Given the description of an element on the screen output the (x, y) to click on. 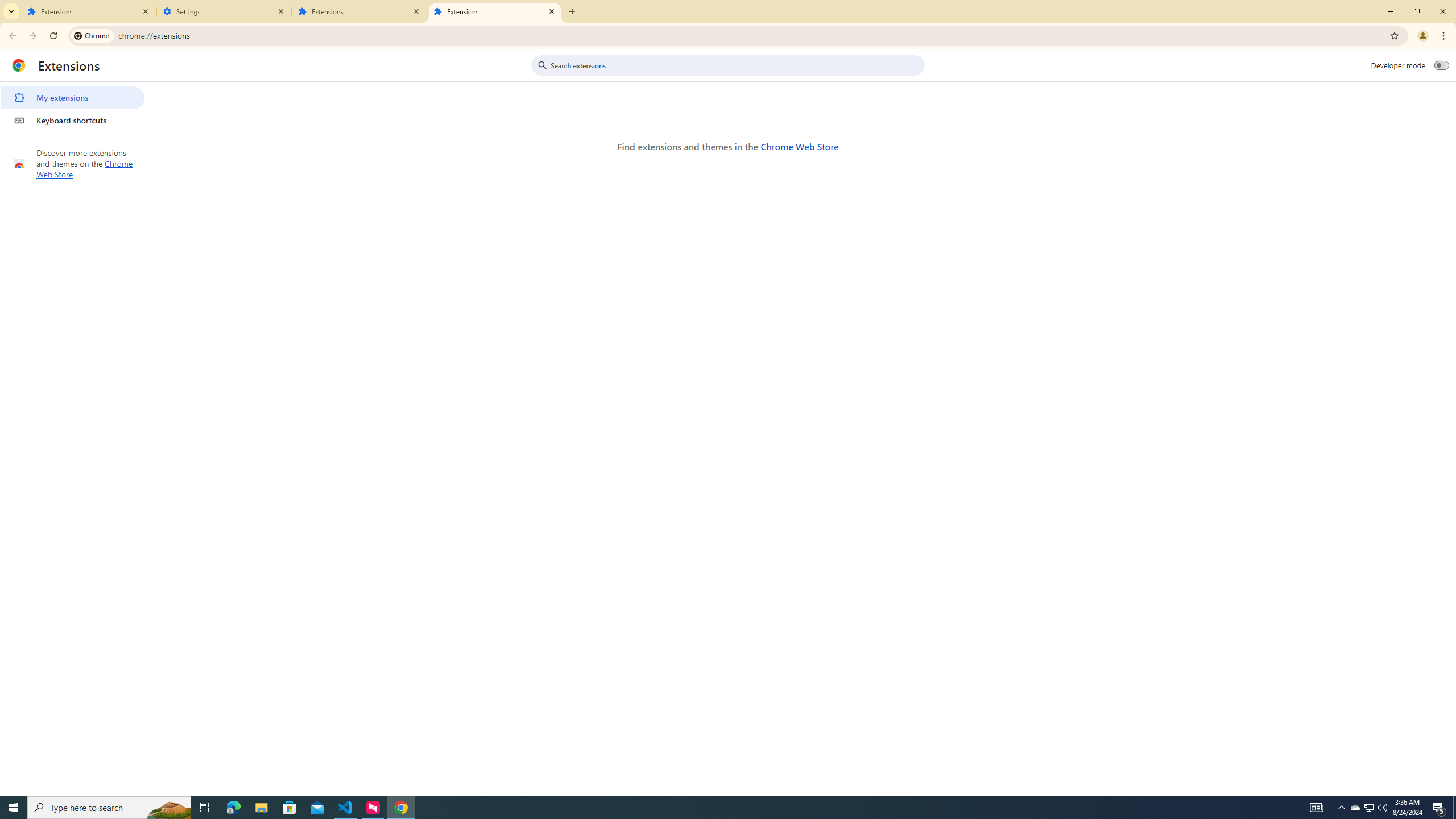
Extensions (359, 11)
Keyboard shortcuts (72, 119)
Search extensions (735, 65)
AutomationID: sectionMenu (72, 106)
